Given the description of an element on the screen output the (x, y) to click on. 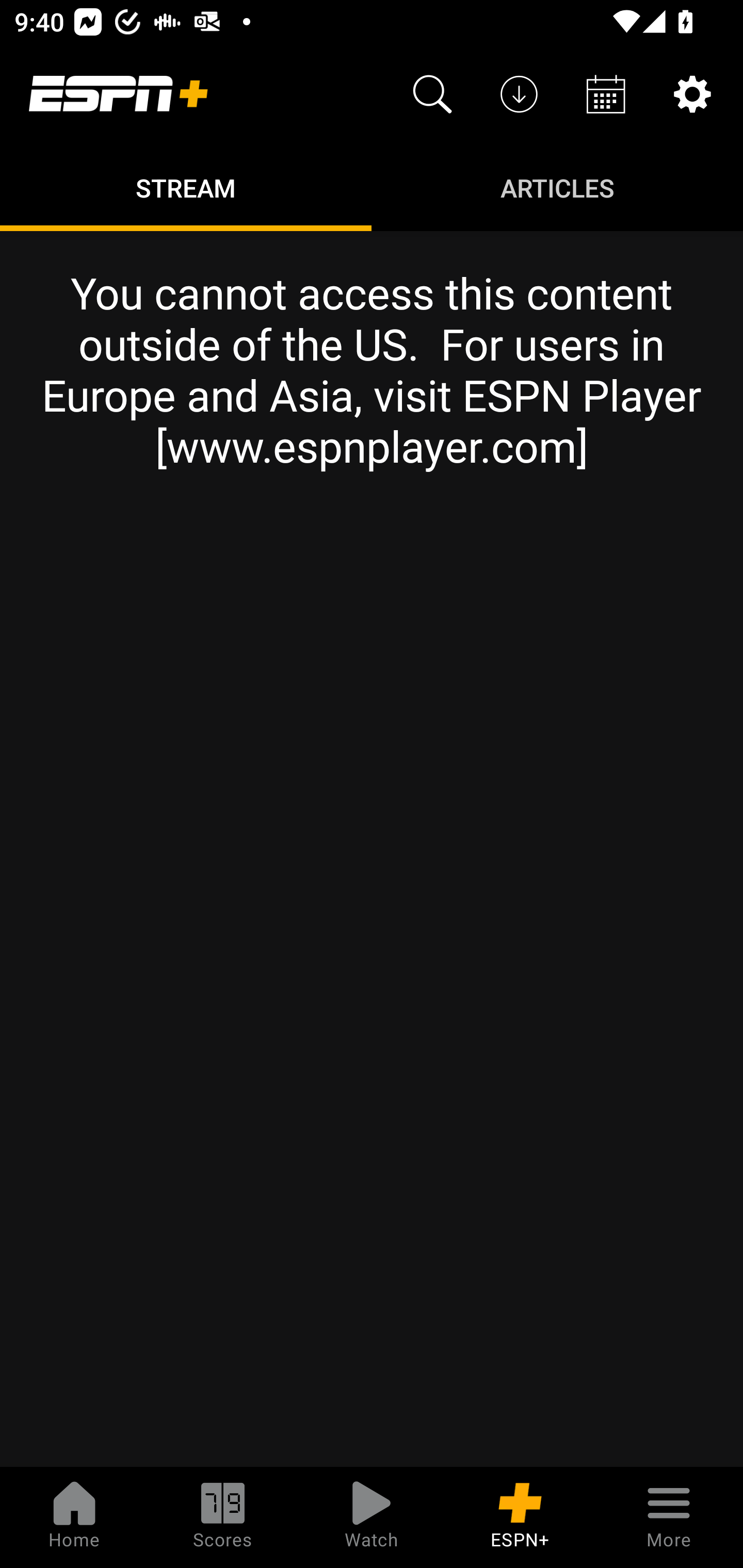
Search (432, 93)
Downloads (518, 93)
Schedule (605, 93)
Settings (692, 93)
Articles ARTICLES (557, 187)
Home (74, 1517)
Scores (222, 1517)
Watch (371, 1517)
More (668, 1517)
